Given the description of an element on the screen output the (x, y) to click on. 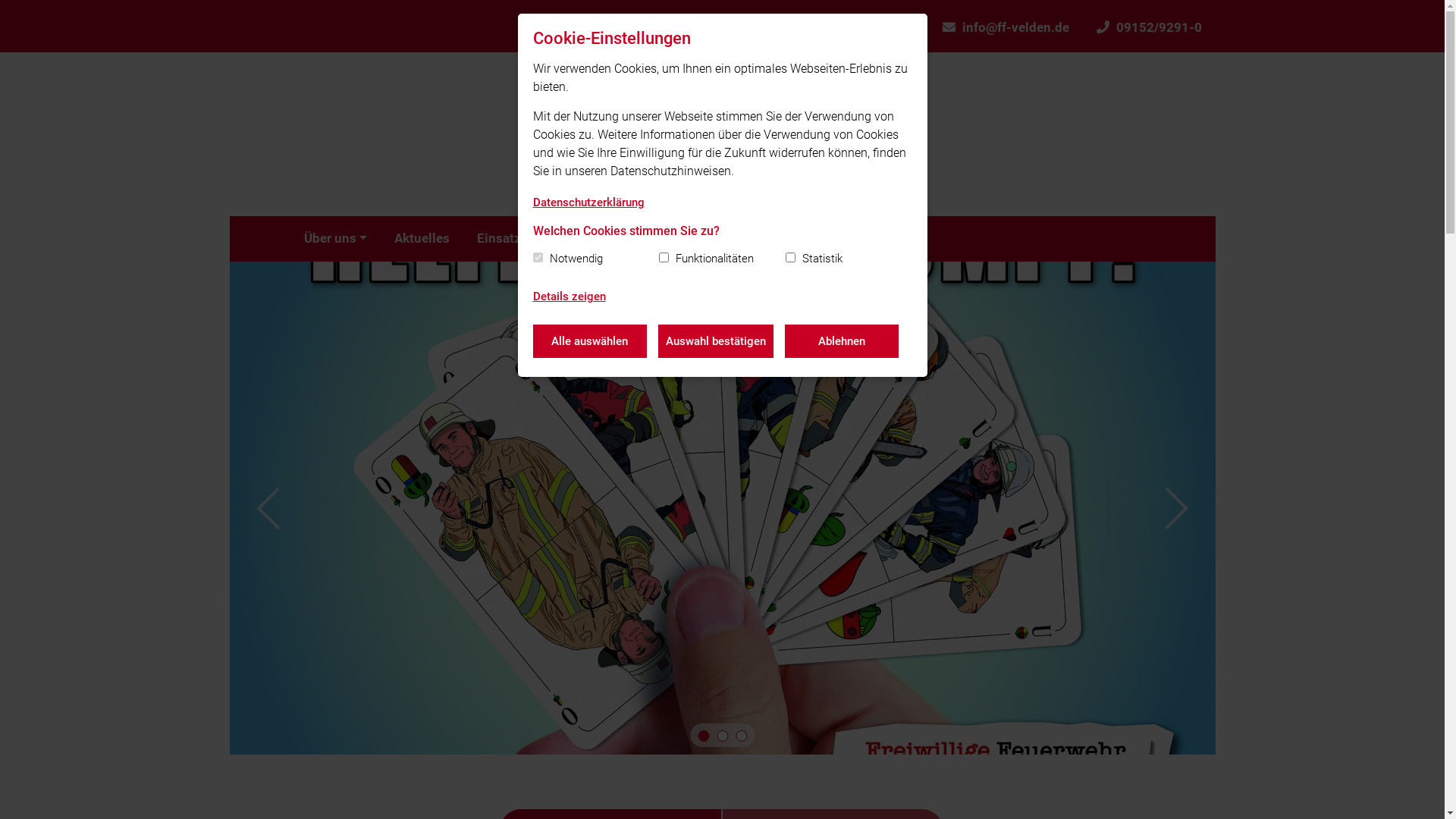
Freiwillige Feuerwehr Velden Element type: text (721, 133)
Aktuelles Element type: text (421, 238)
Jugend Element type: text (710, 238)
09152/9291-0 Element type: text (1148, 25)
Service Element type: text (863, 238)
Ablehnen Element type: text (840, 340)
Details zeigen Element type: text (568, 296)
Termine Element type: text (626, 238)
Verein Element type: text (790, 238)
info@ff-velden.de Element type: text (1005, 25)
Einsatzberichte Element type: text (523, 238)
